Given the description of an element on the screen output the (x, y) to click on. 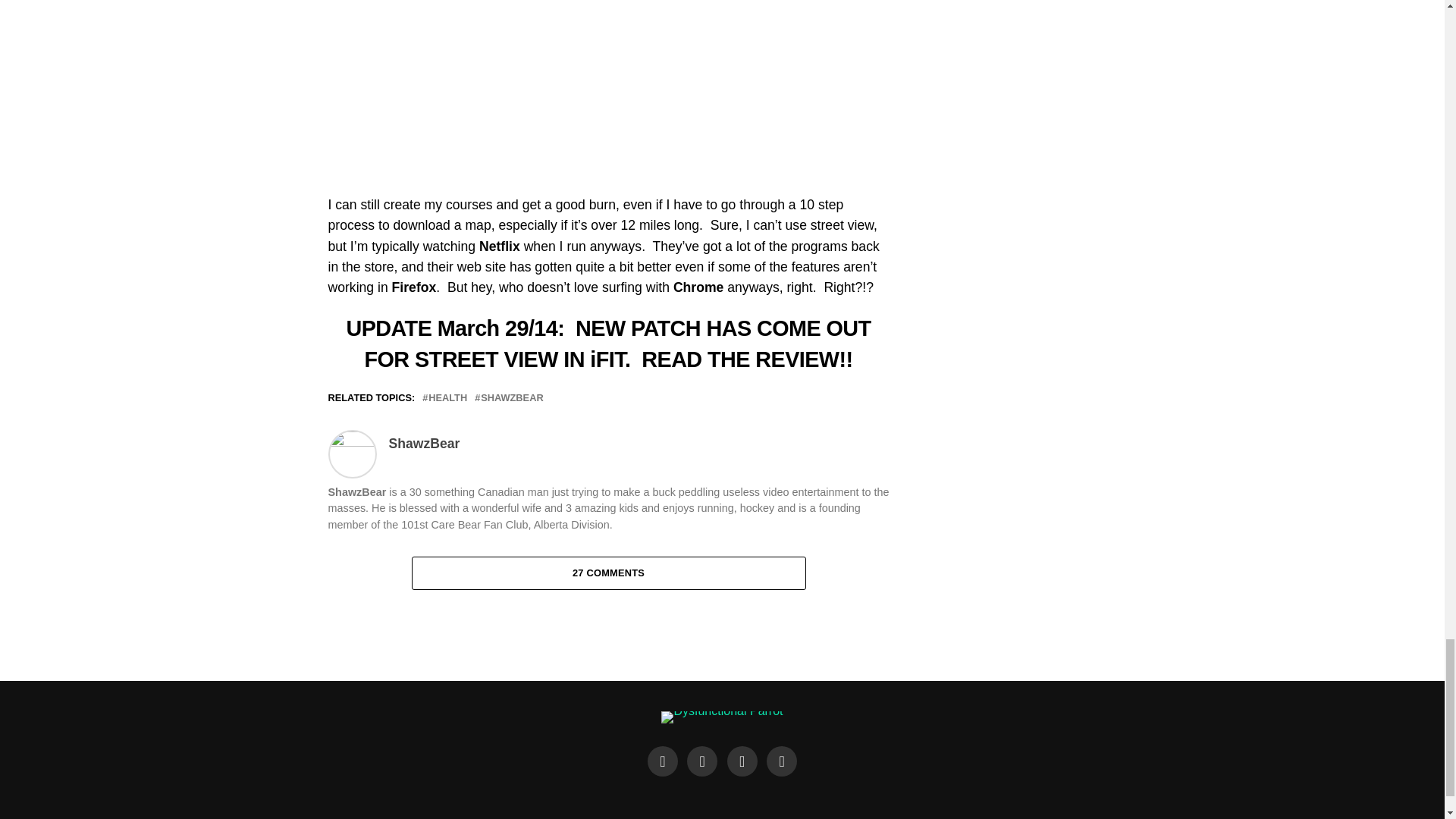
Posts by ShawzBear (424, 443)
